Given the description of an element on the screen output the (x, y) to click on. 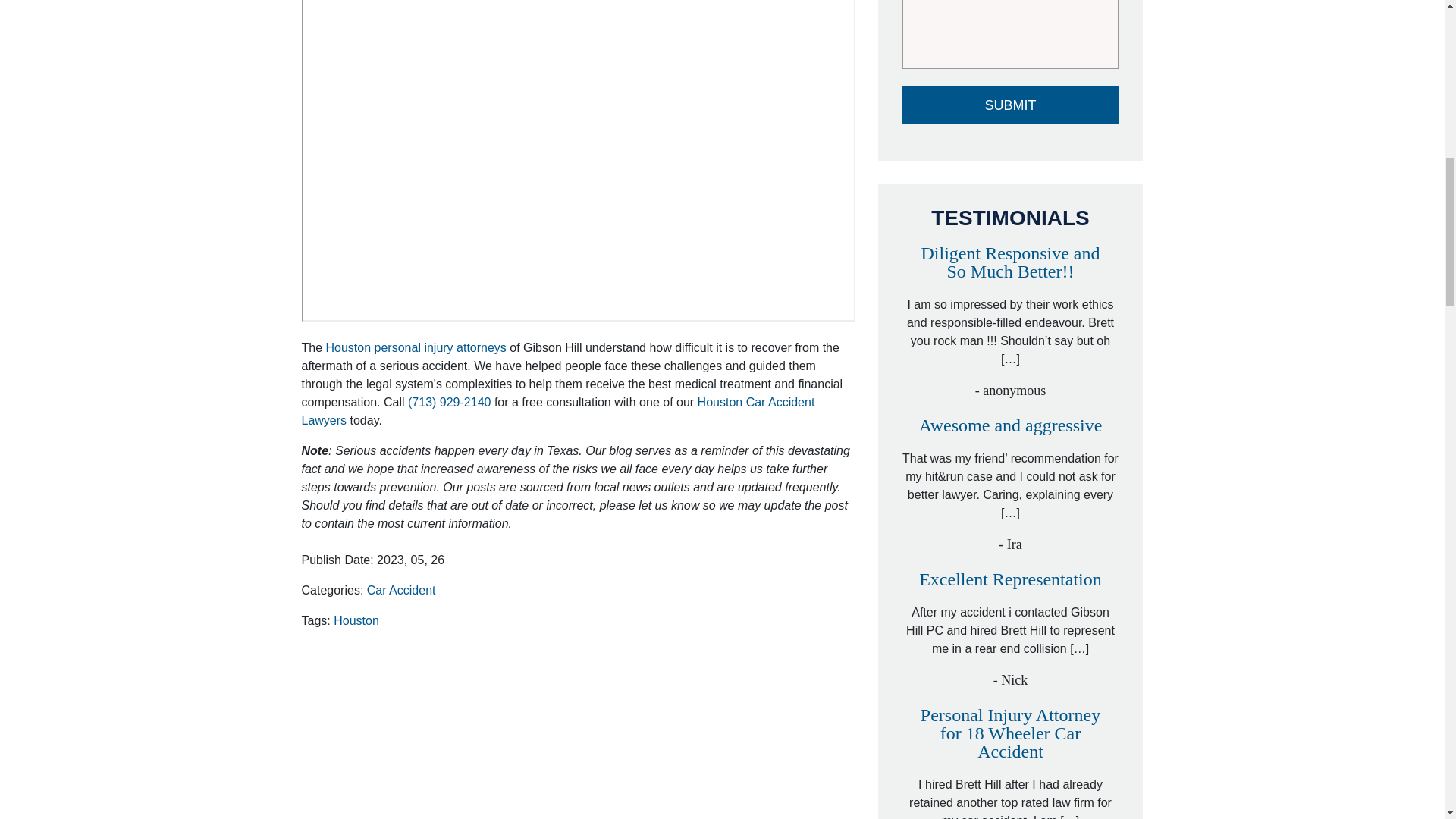
Houston Car Accident Lawyers (558, 410)
Submit (1010, 105)
Car Accident (400, 590)
Houston personal injury attorneys (416, 347)
Houston (355, 620)
Submit (1010, 105)
